Given the description of an element on the screen output the (x, y) to click on. 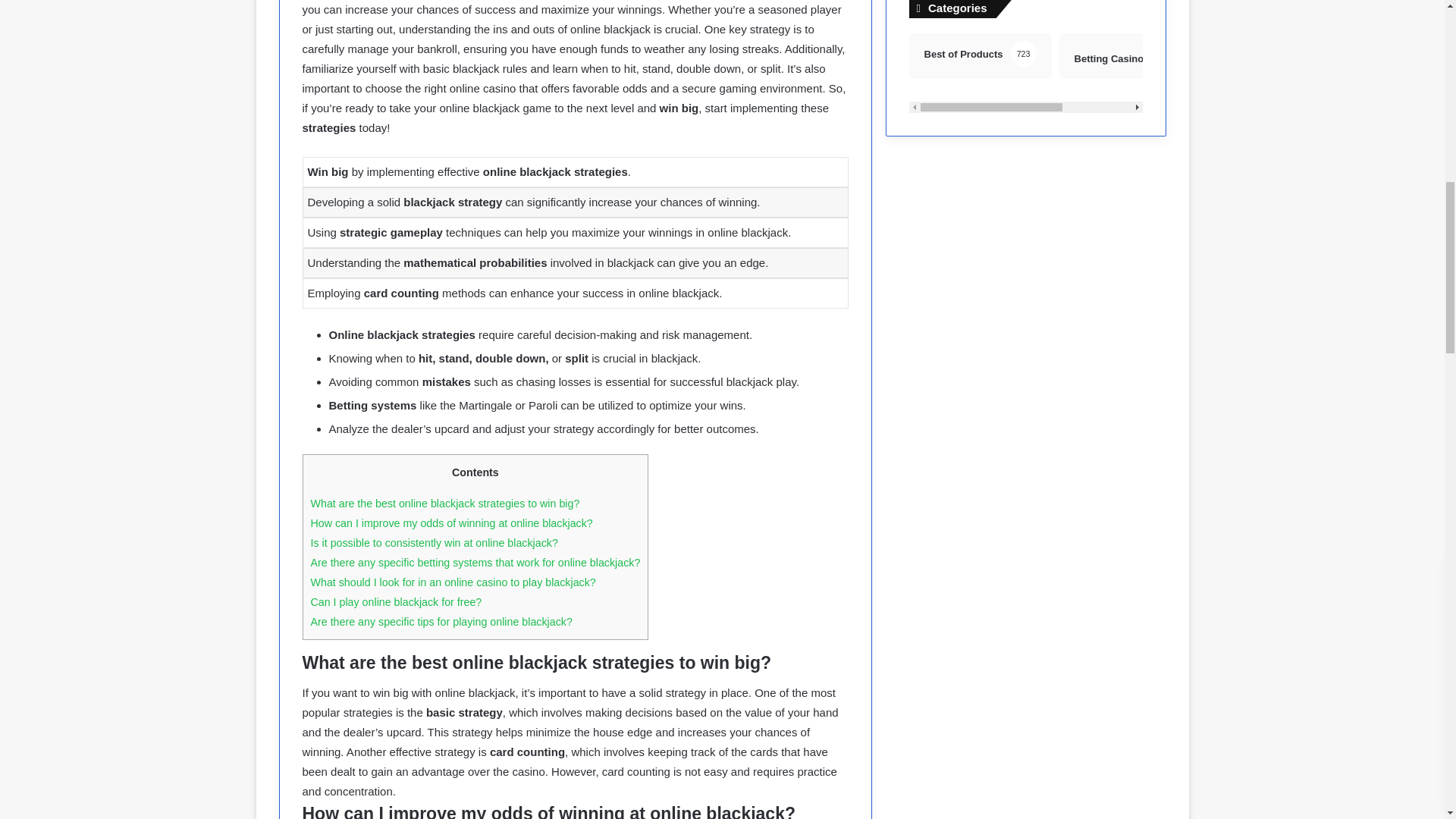
How can I improve my odds of winning at online blackjack? (451, 522)
Are there any specific tips for playing online blackjack? (441, 621)
What are the best online blackjack strategies to win big? (1025, 73)
Is it possible to consistently win at online blackjack? (445, 503)
Can I play online blackjack for free? (434, 542)
